Given the description of an element on the screen output the (x, y) to click on. 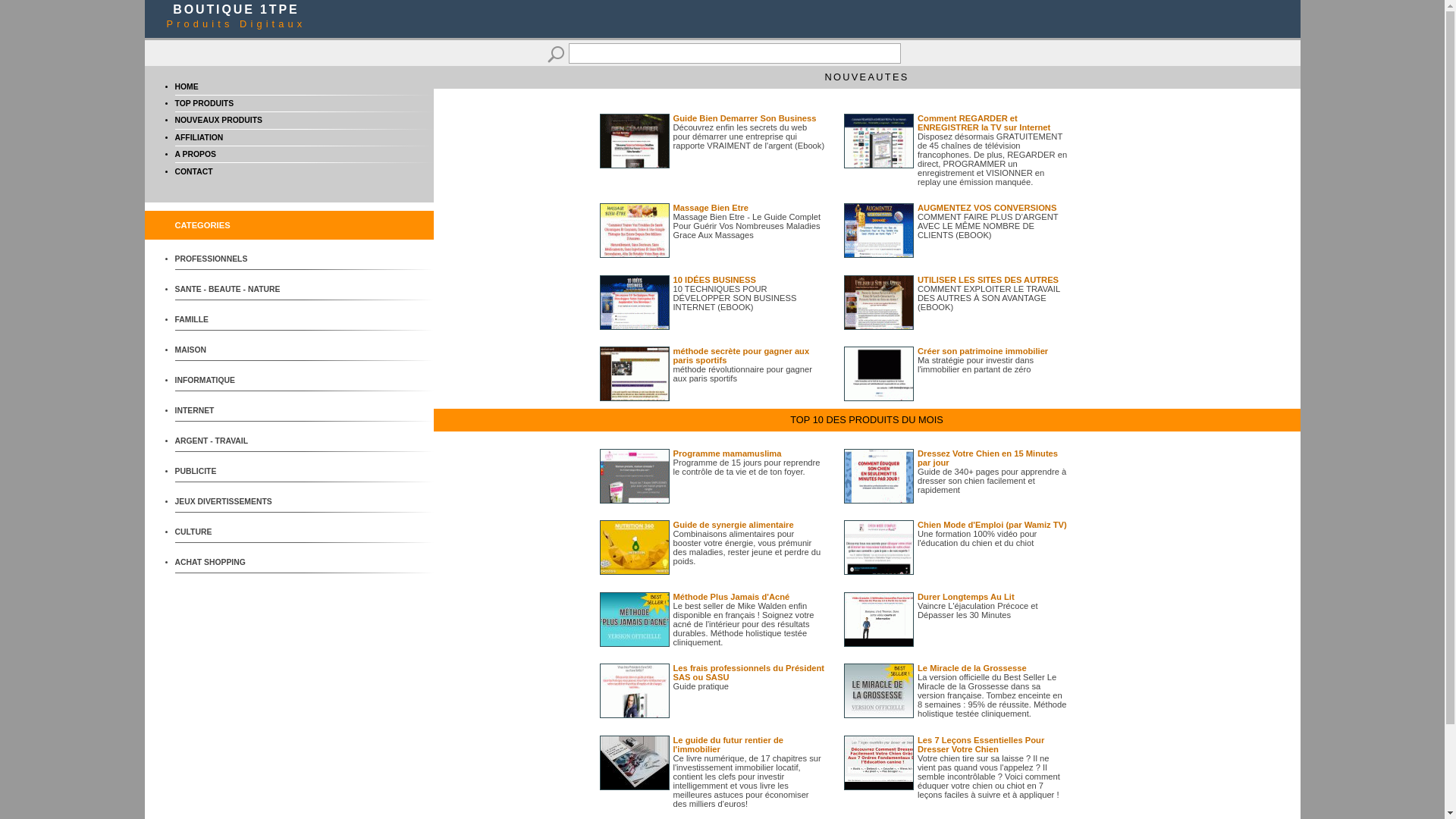
Durer Longtemps Au Lit Element type: text (965, 596)
Massage Bien Etre Element type: text (711, 207)
ACHAT SHOPPING Element type: text (231, 562)
Le Miracle de la Grossesse Element type: text (971, 667)
Dressez Votre Chien en 15 Minutes par jour Element type: text (987, 457)
Chien Mode d'Emploi (par Wamiz TV) Element type: text (991, 524)
FAMILLE Element type: text (231, 319)
CONTACT Element type: text (193, 171)
A PROPOS Element type: text (194, 154)
ARGENT - TRAVAIL Element type: text (231, 440)
Comment REGARDER et ENREGISTRER la TV sur Internet Element type: text (983, 122)
Guide de synergie alimentaire Element type: text (733, 524)
HOME Element type: text (185, 86)
SANTE - BEAUTE - NATURE Element type: text (231, 289)
PUBLICITE Element type: text (231, 471)
AUGMENTEZ VOS CONVERSIONS Element type: text (986, 207)
UTILISER LES SITES DES AUTRES Element type: text (987, 279)
INTERNET Element type: text (231, 410)
Le guide du futur rentier de l'immobilier Element type: text (728, 744)
MAISON Element type: text (231, 349)
NOUVEAUX PRODUITS Element type: text (217, 120)
CULTURE Element type: text (231, 531)
PROFESSIONNELS Element type: text (231, 258)
TOP PRODUITS Element type: text (203, 103)
JEUX DIVERTISSEMENTS Element type: text (231, 501)
AFFILIATION Element type: text (198, 137)
Programme mamamuslima Element type: text (727, 453)
Guide pratique Element type: text (700, 685)
Guide Bien Demarrer Son Business Element type: text (744, 117)
INFORMATIQUE Element type: text (231, 380)
